Given the description of an element on the screen output the (x, y) to click on. 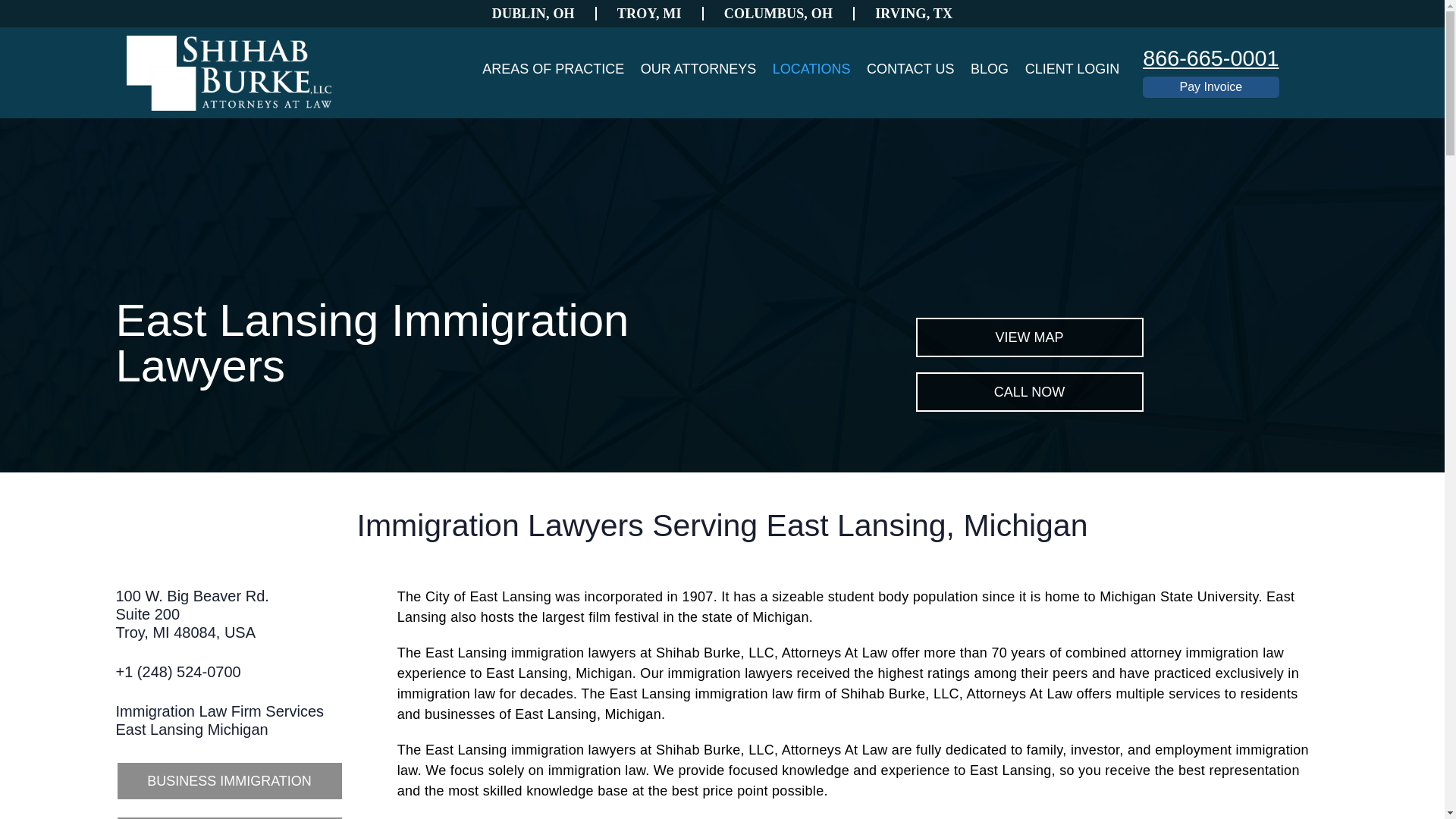
866-665-0001 (1210, 58)
OUR ATTORNEYS (219, 719)
BLOG (697, 68)
COLUMBUS, OH (989, 68)
DUBLIN, OH (778, 13)
AREAS OF PRACTICE (533, 13)
CONTACT US (191, 614)
IRVING, TX (552, 68)
TROY, MI (910, 68)
CALL NOW (913, 13)
BUSINESS IMMIGRATION (649, 13)
LOCATIONS (1028, 391)
VIEW MAP (228, 780)
